Given the description of an element on the screen output the (x, y) to click on. 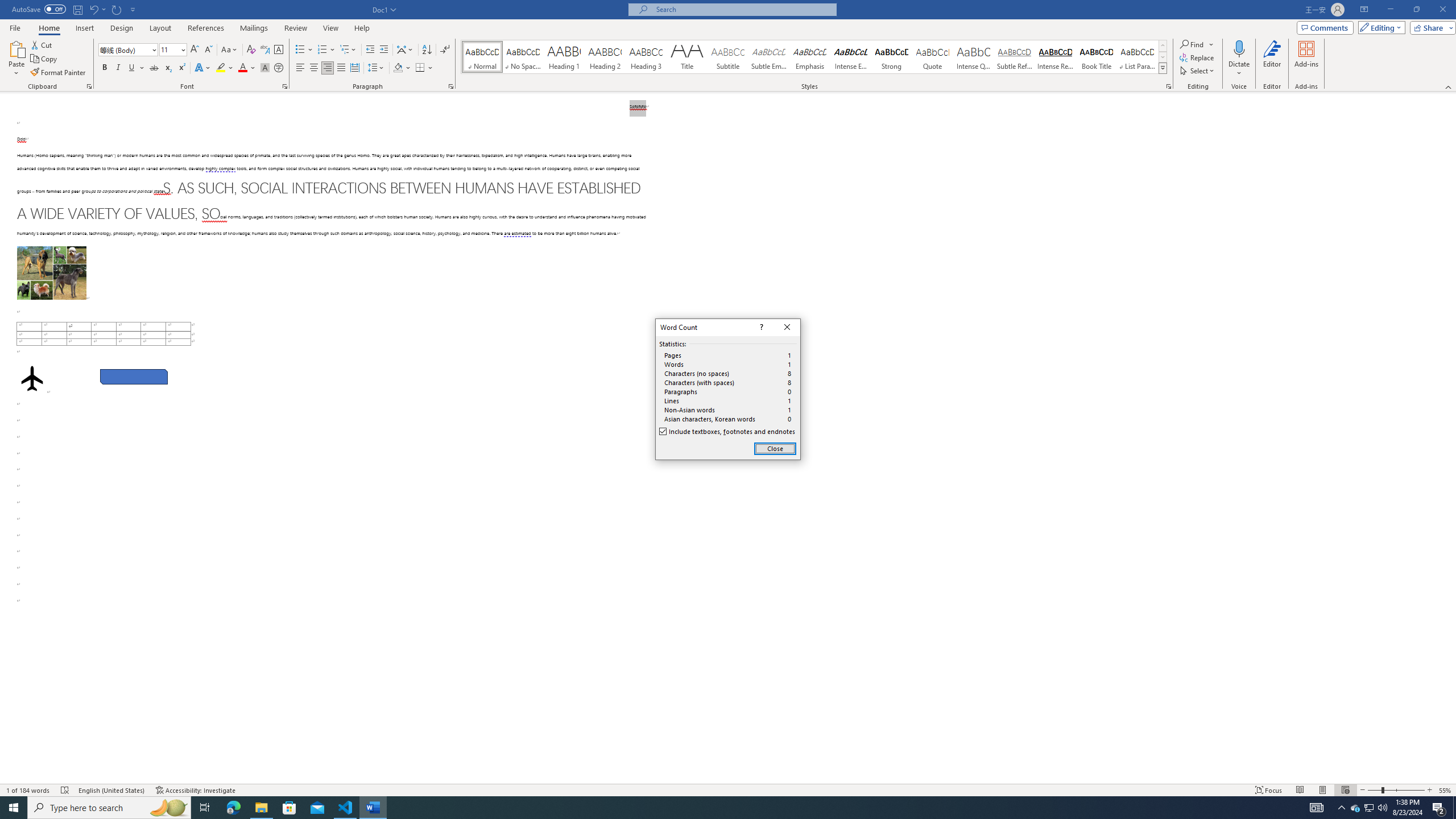
Subtle Reference (1014, 56)
Microsoft Edge (233, 807)
